Given the description of an element on the screen output the (x, y) to click on. 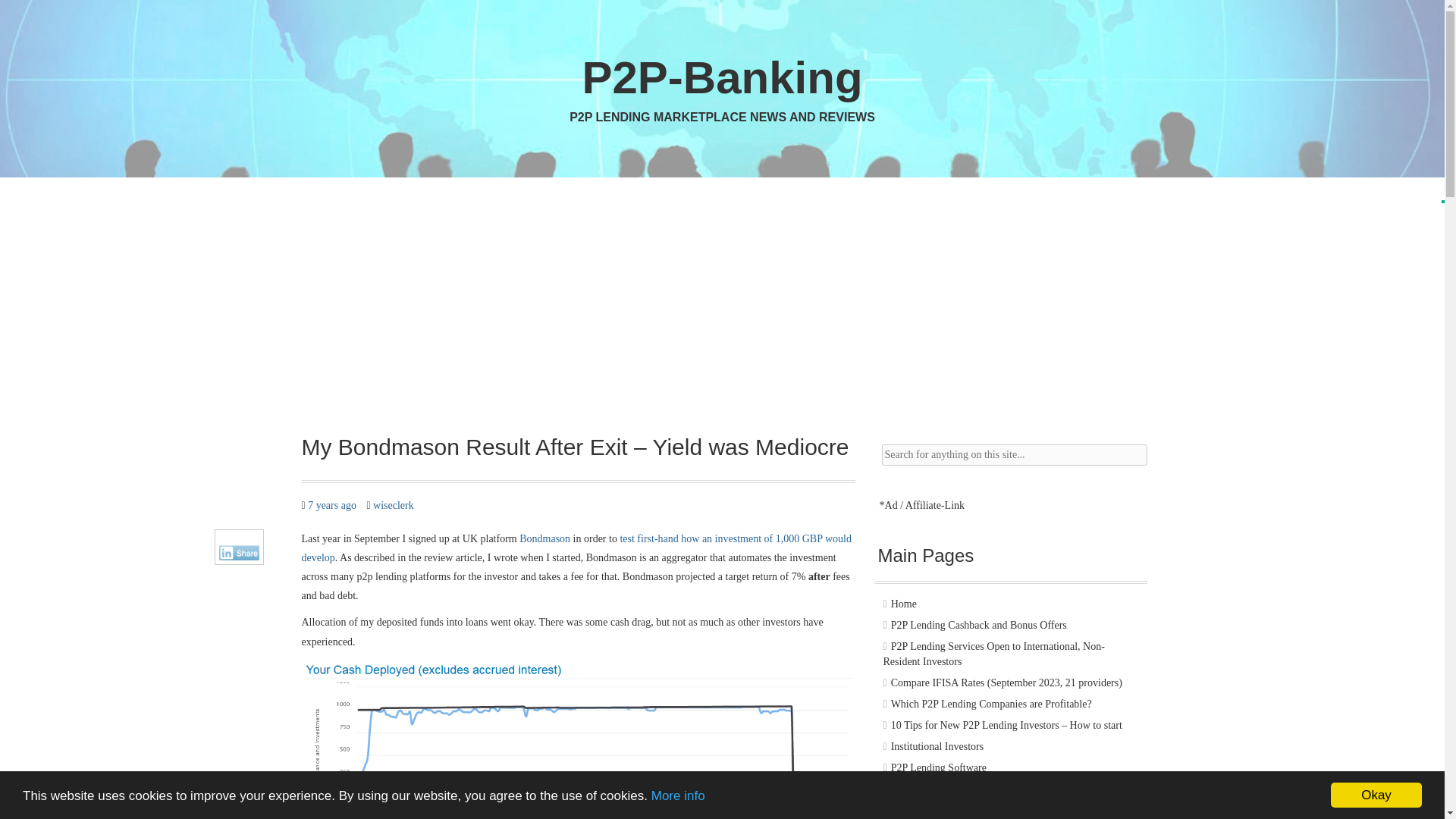
Bondmason (544, 538)
September 22, 2017 (331, 505)
Home (904, 603)
P2P-Banking (720, 77)
P2P-Banking (720, 77)
P2P Lending Cashback and Bonus Offers (979, 624)
test first-hand how an investment of 1,000 GBP would develop (576, 548)
wiseclerk (392, 505)
7 years ago (331, 505)
Share (240, 552)
